Given the description of an element on the screen output the (x, y) to click on. 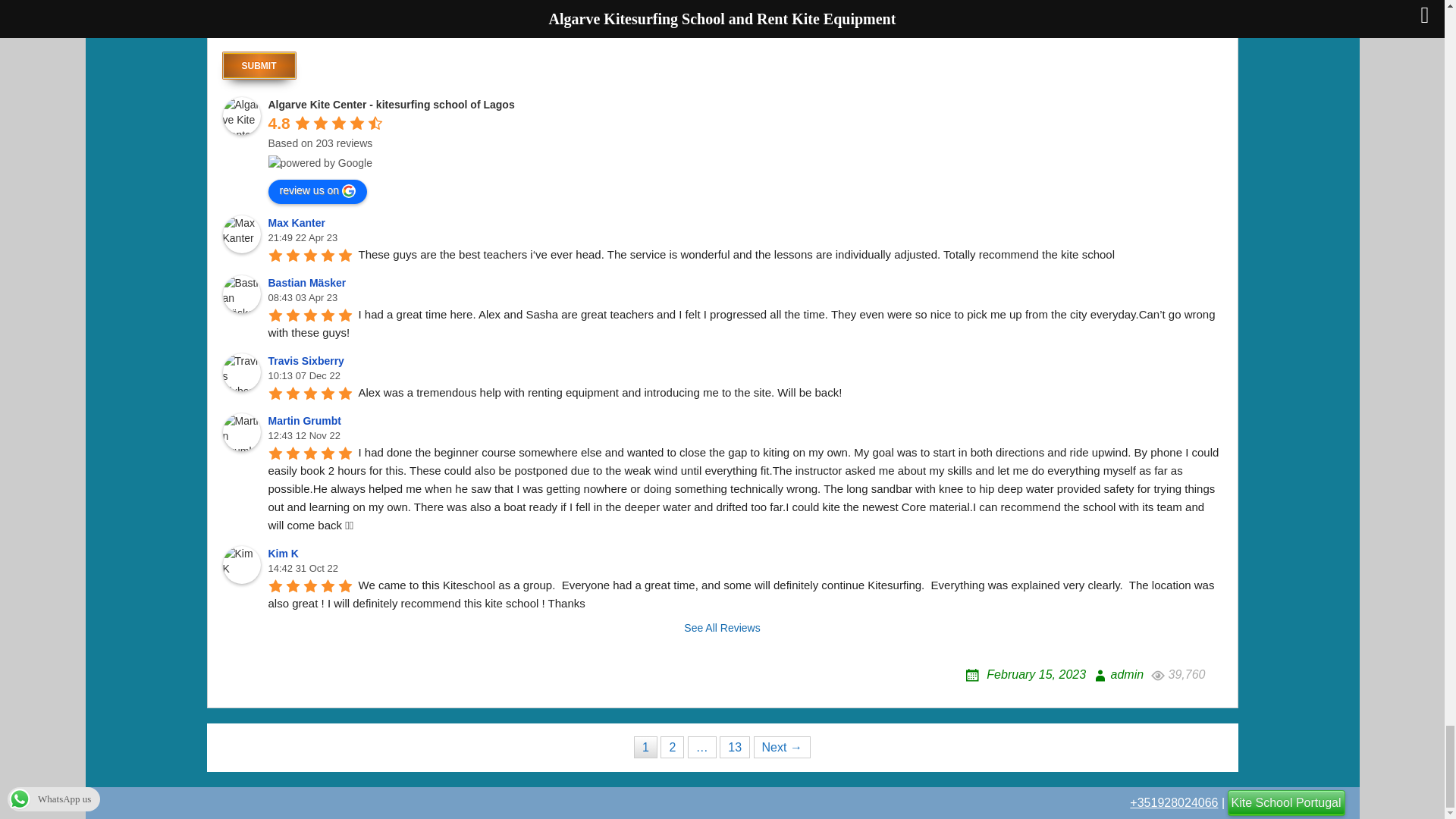
Max Kanter (241, 234)
review us on (317, 191)
39,760 (1176, 674)
Algarve Kite Center - kitesurfing school of Lagos (391, 104)
Kim K (284, 553)
See All Reviews (722, 627)
admin (1118, 674)
13 (734, 747)
Max Kanter (298, 223)
Kite School Portugal (1285, 802)
